Given the description of an element on the screen output the (x, y) to click on. 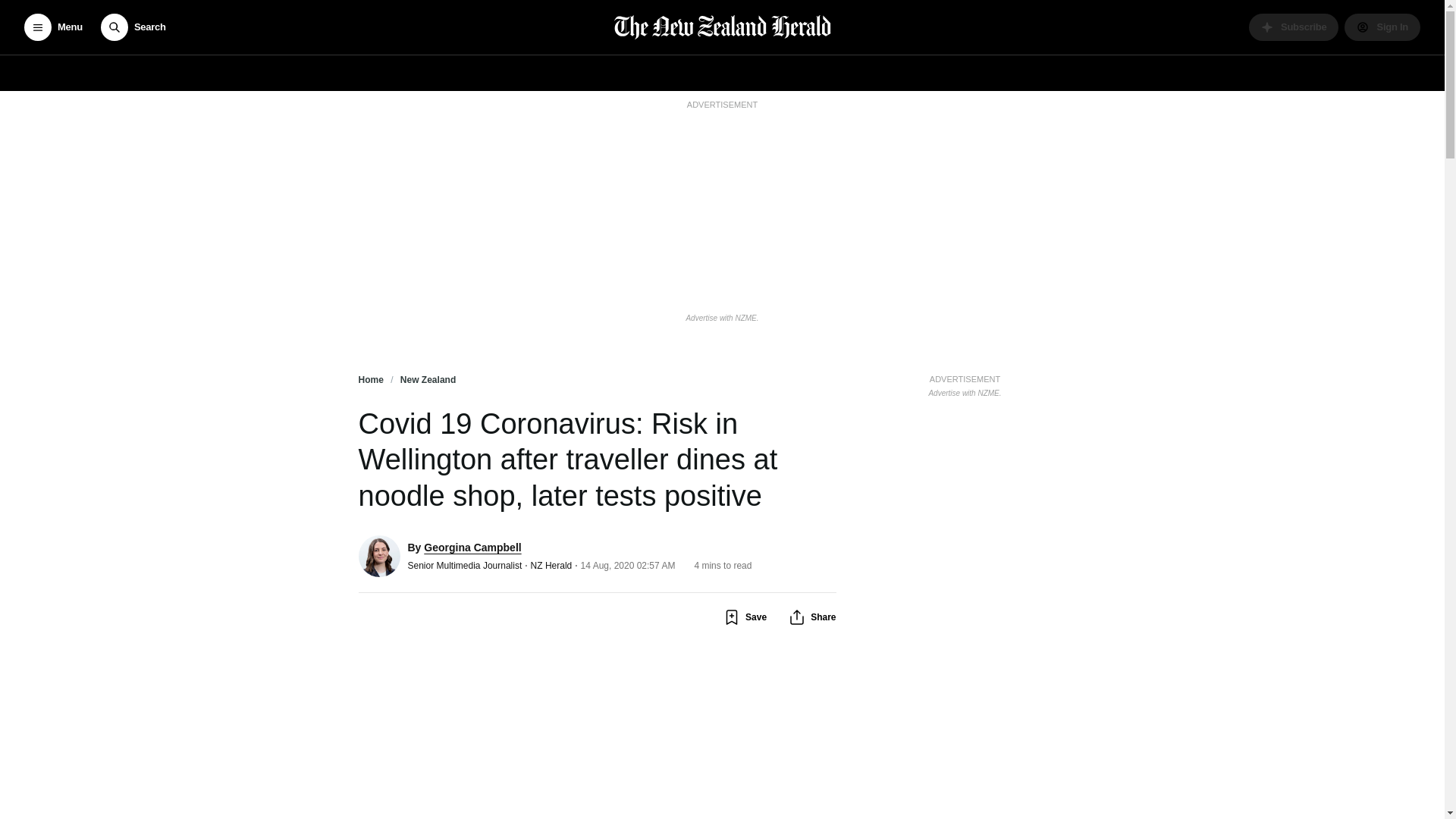
Sign In (1382, 26)
Menu (53, 26)
Manage your account (1382, 26)
Search (132, 26)
Subscribe (1294, 26)
